Given the description of an element on the screen output the (x, y) to click on. 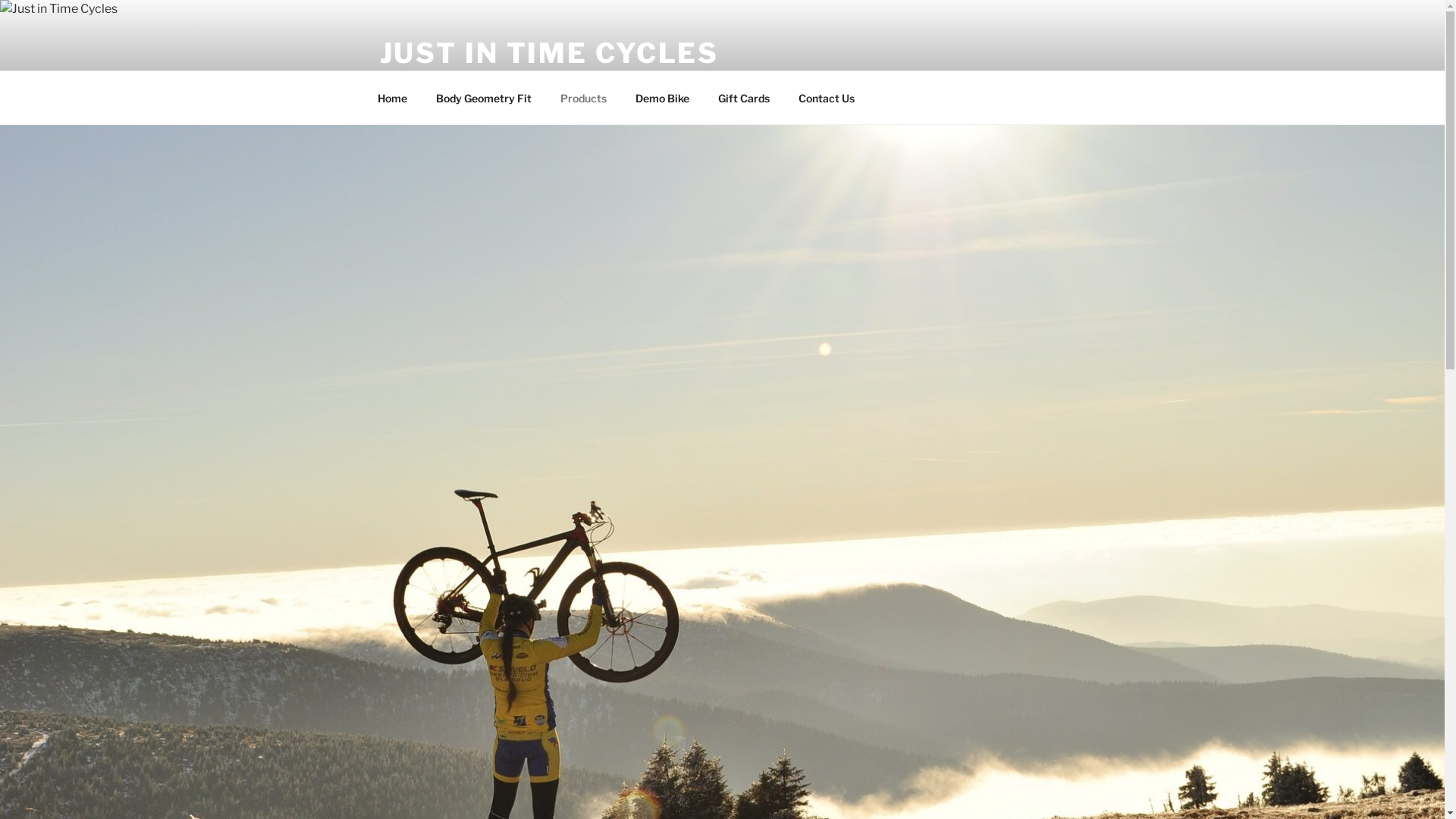
Body Geometry Fit Element type: text (484, 97)
Products Element type: text (583, 97)
JUST IN TIME CYCLES Element type: text (548, 52)
Home Element type: text (392, 97)
Demo Bike Element type: text (661, 97)
Contact Us Element type: text (826, 97)
Skip to content Element type: text (0, 0)
Gift Cards Element type: text (744, 97)
